Given the description of an element on the screen output the (x, y) to click on. 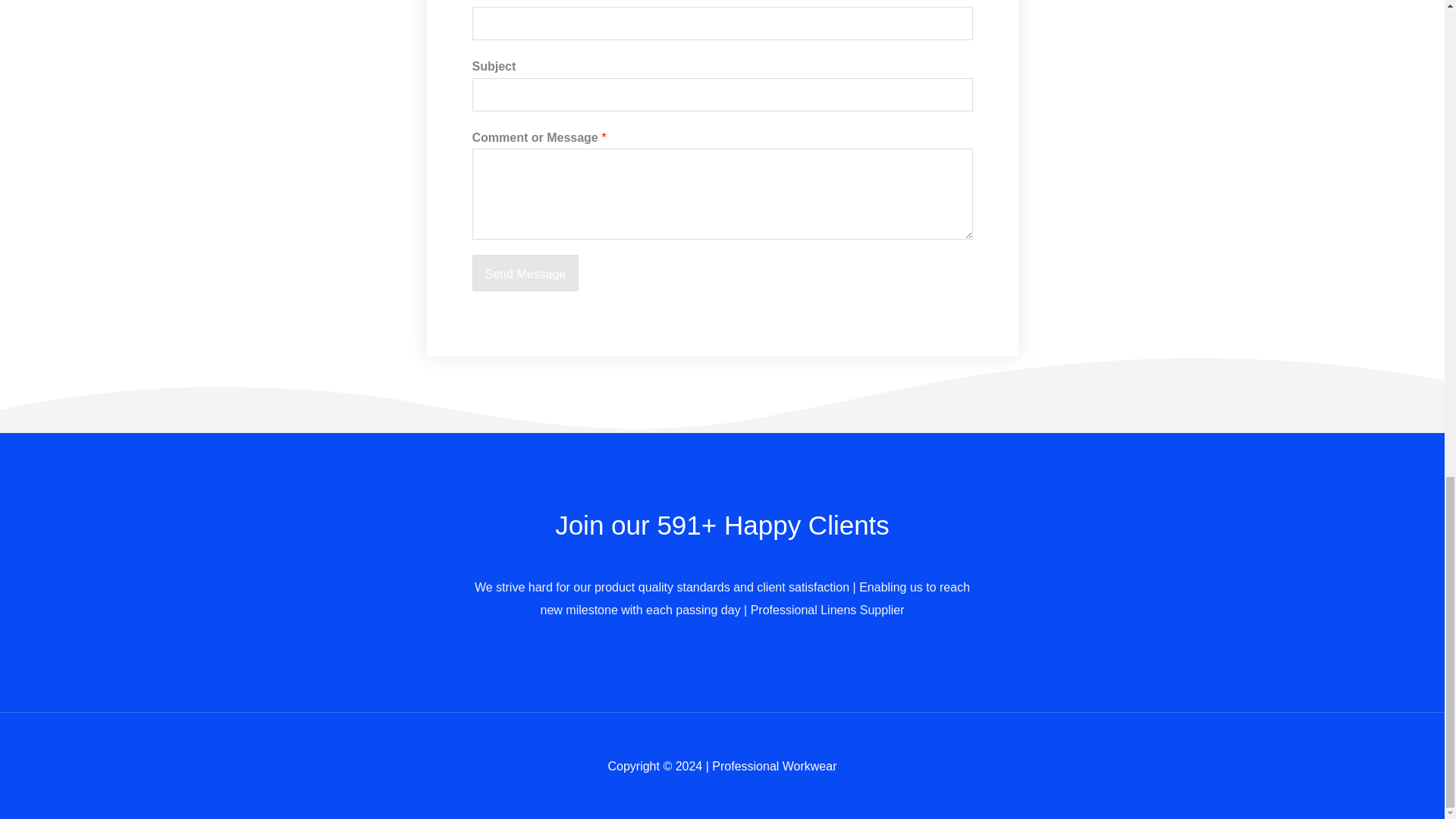
Send Message (524, 272)
